Given the description of an element on the screen output the (x, y) to click on. 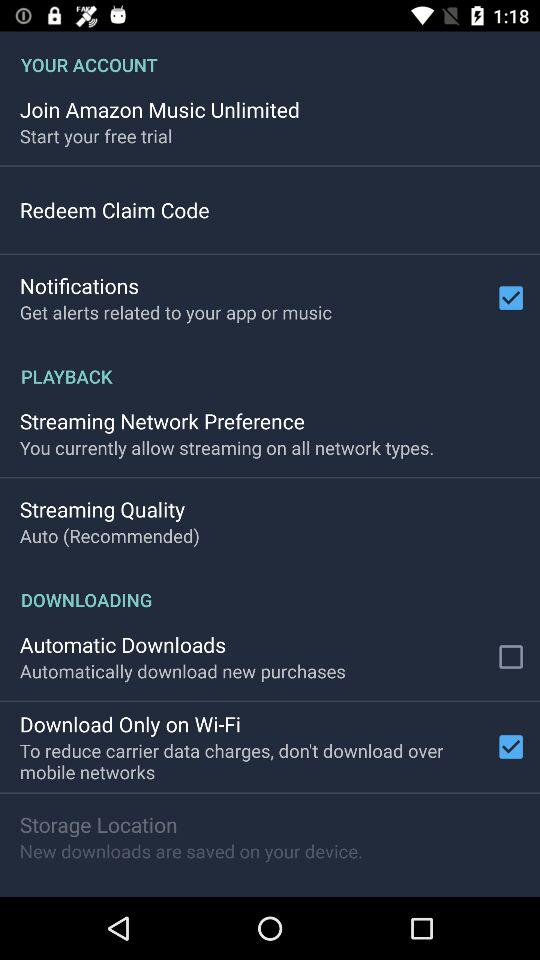
launch the icon below the join amazon music app (95, 135)
